Given the description of an element on the screen output the (x, y) to click on. 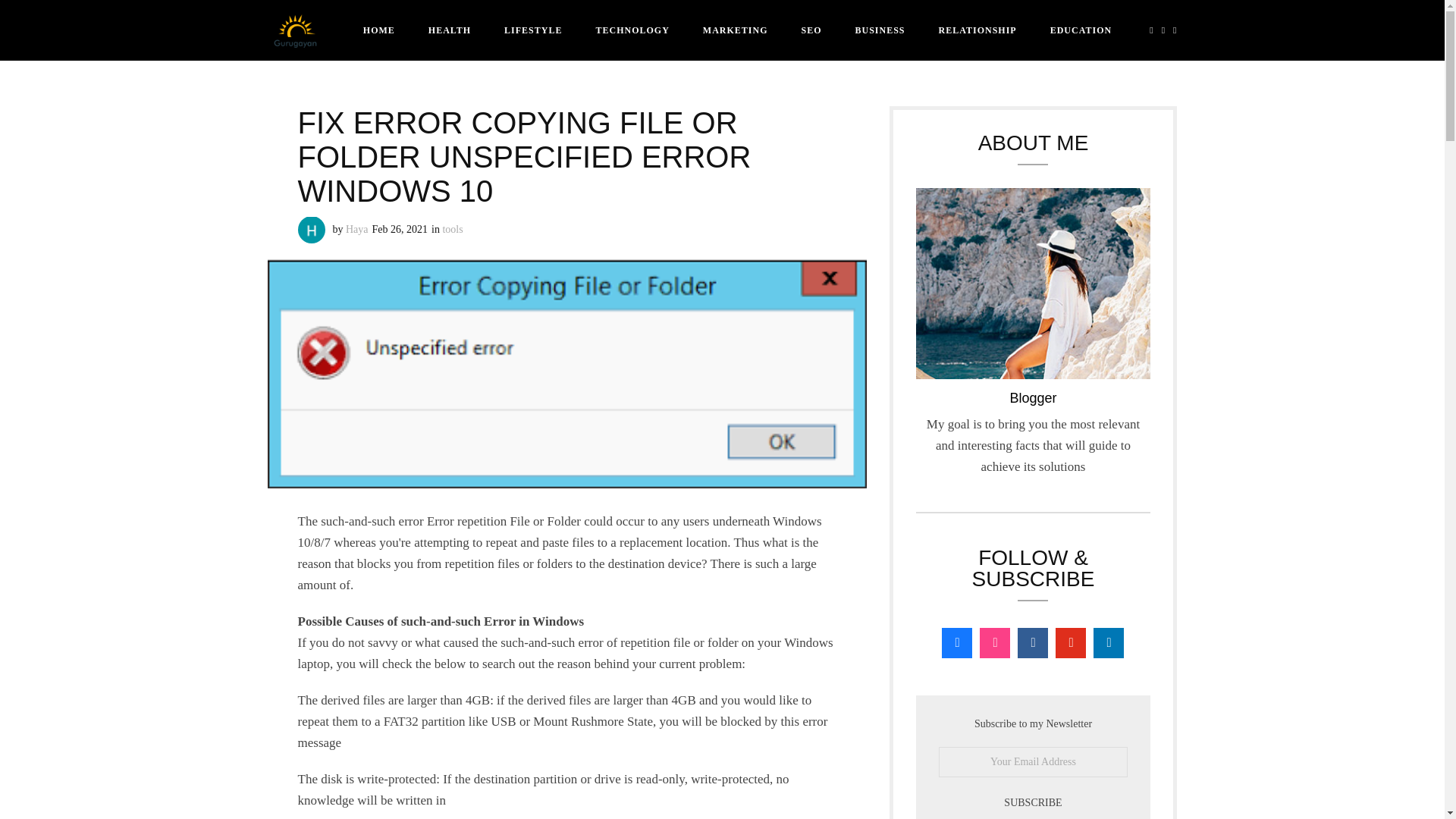
Guru Gayan Logo (293, 30)
LIFESTYLE (532, 30)
tools (452, 229)
Haya (357, 229)
EDUCATION (1080, 30)
RELATIONSHIP (977, 30)
MARKETING (735, 30)
HEALTH (449, 30)
Haya (357, 229)
Haya Noor (310, 230)
TECHNOLOGY (631, 30)
